Given the description of an element on the screen output the (x, y) to click on. 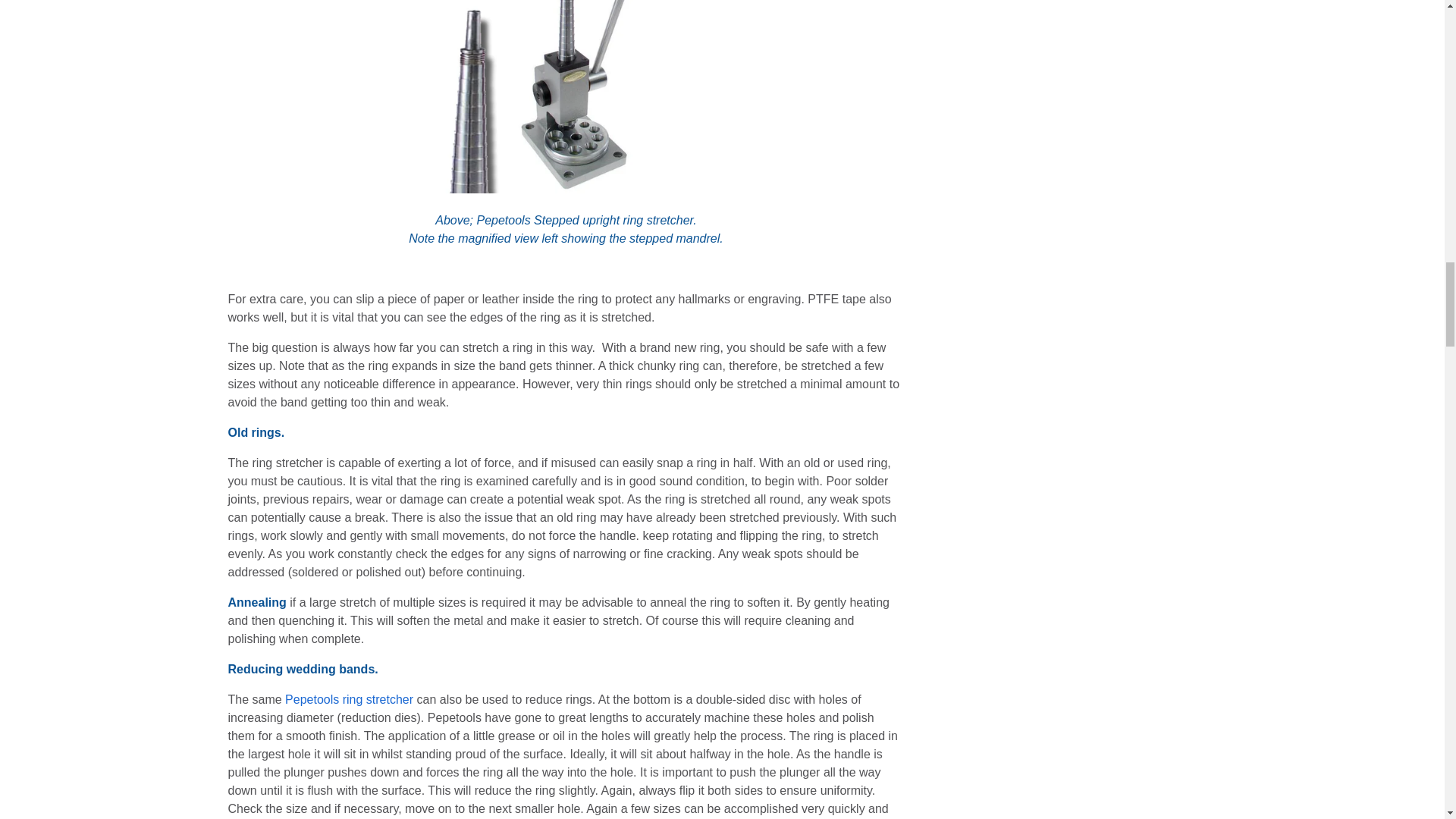
Stepped ring stretcher (565, 96)
